Given the description of an element on the screen output the (x, y) to click on. 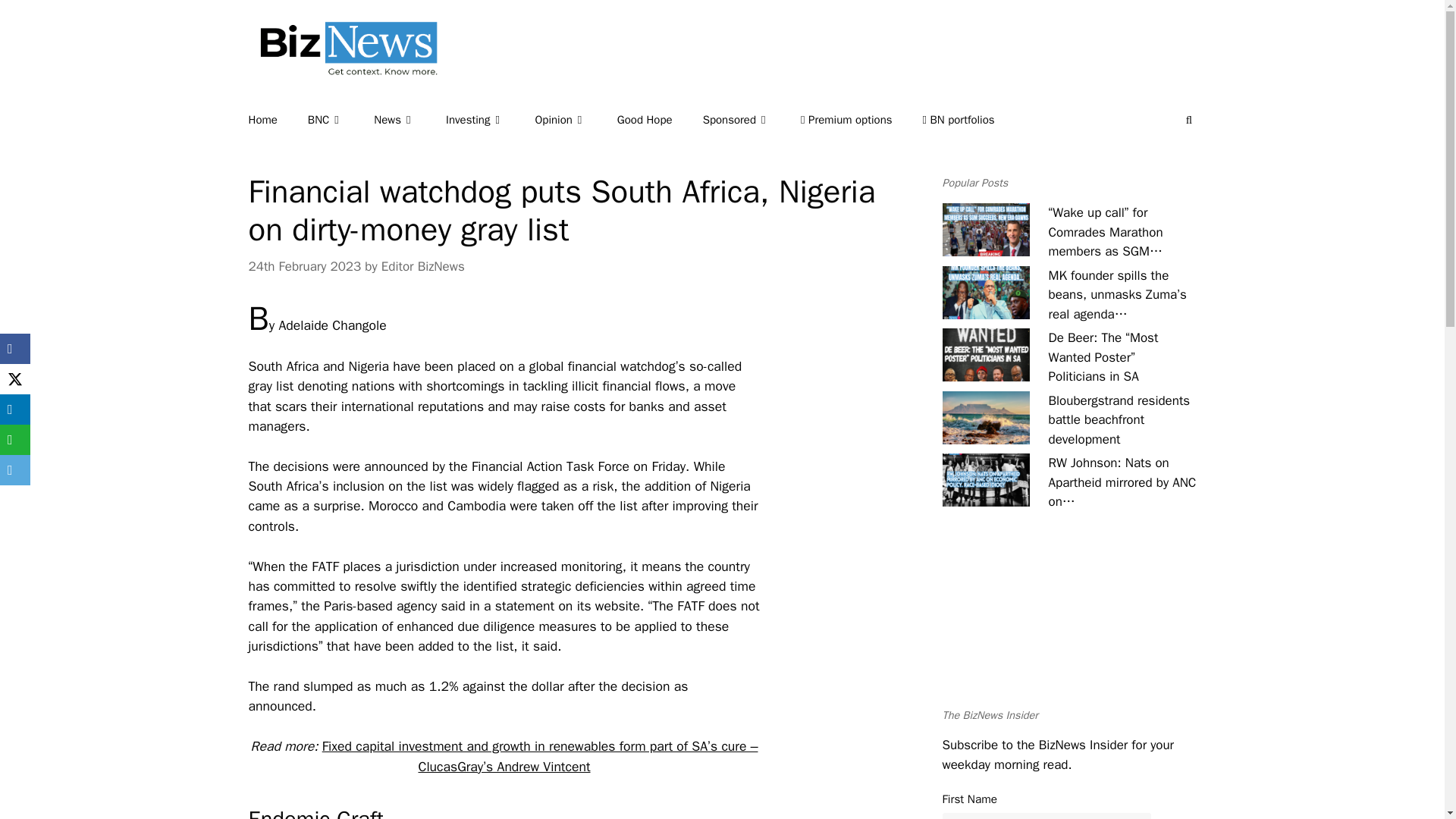
News (409, 119)
Bloubergstrand residents battle beachfront development (985, 417)
Spotify Embed: BizNews Radio (1068, 619)
Opinion (574, 119)
BNC (340, 119)
Investing (489, 119)
View all posts by Editor BizNews (422, 266)
Home (277, 119)
Editor BizNews (422, 266)
